Given the description of an element on the screen output the (x, y) to click on. 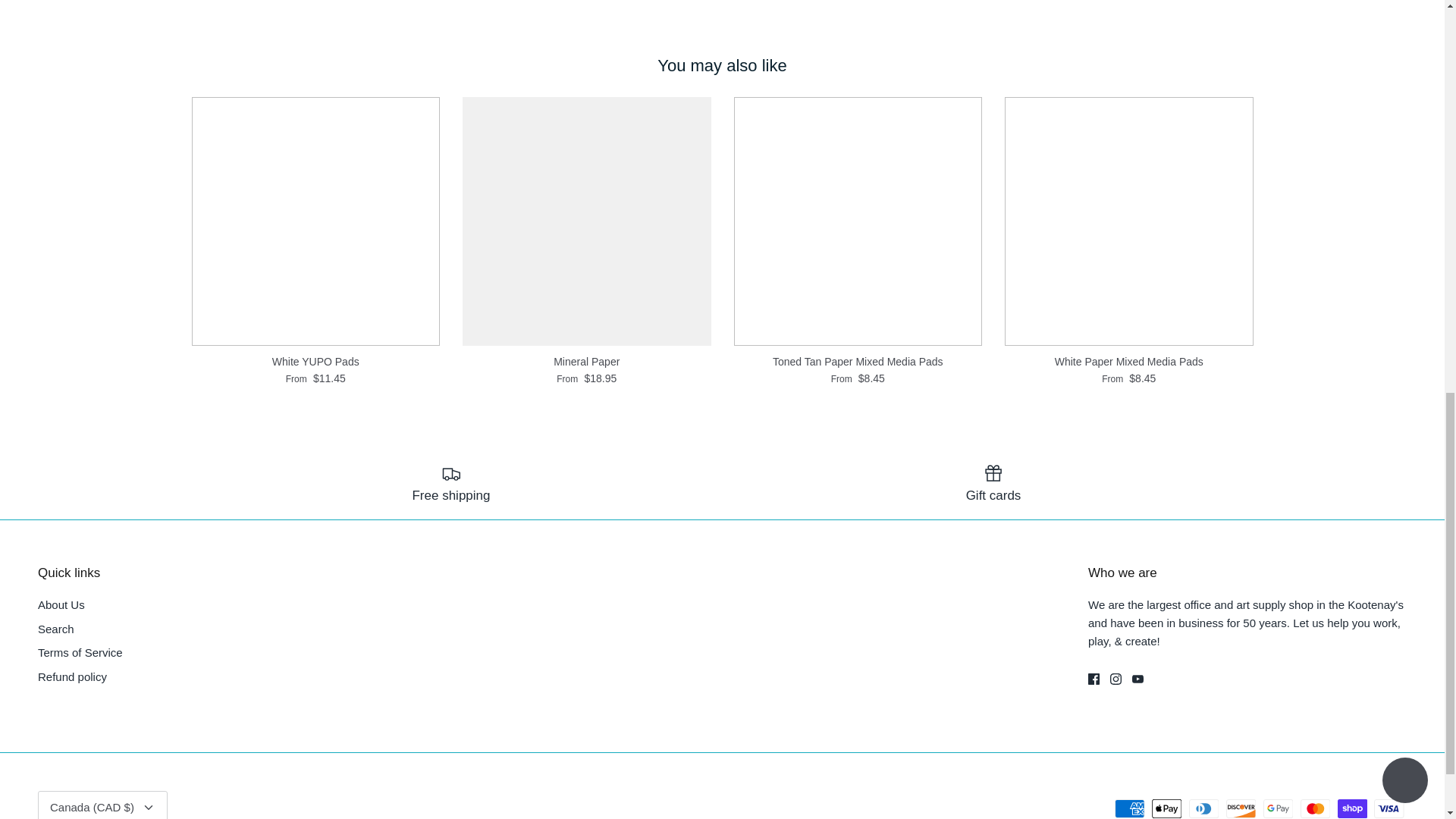
Facebook (1093, 678)
Apple Pay (1166, 808)
Youtube (1137, 678)
Instagram (1115, 678)
American Express (1129, 808)
